Given the description of an element on the screen output the (x, y) to click on. 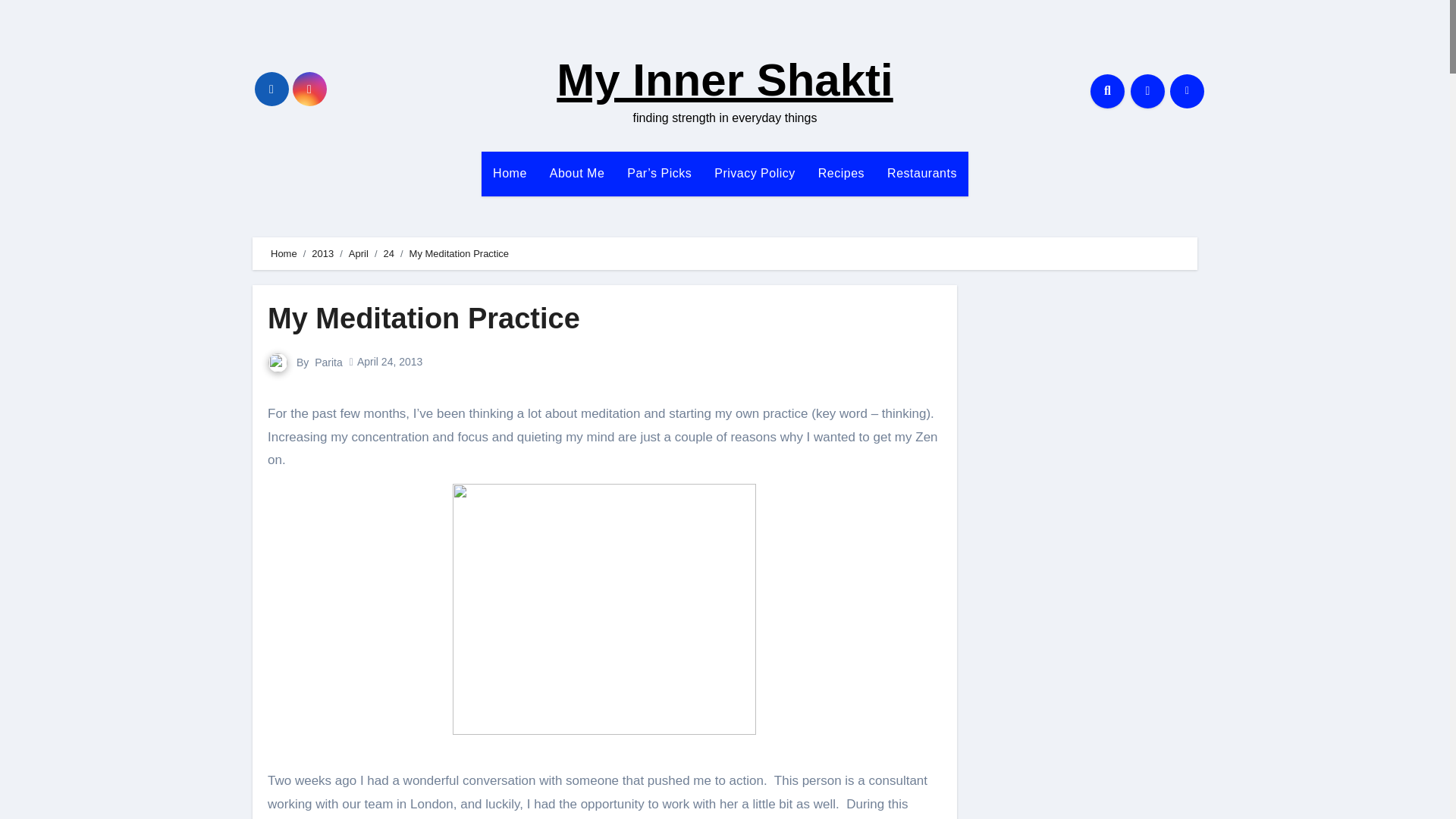
Home (509, 173)
Restaurants (922, 173)
About Me (576, 173)
24 (389, 253)
April (358, 253)
Privacy Policy (754, 173)
Permalink to: My Meditation Practice (423, 318)
My Inner Shakti (724, 79)
Parita (328, 362)
Home (509, 173)
2013 (322, 253)
My Meditation Practice (423, 318)
April 24, 2013 (389, 361)
Recipes (841, 173)
Home (283, 253)
